Given the description of an element on the screen output the (x, y) to click on. 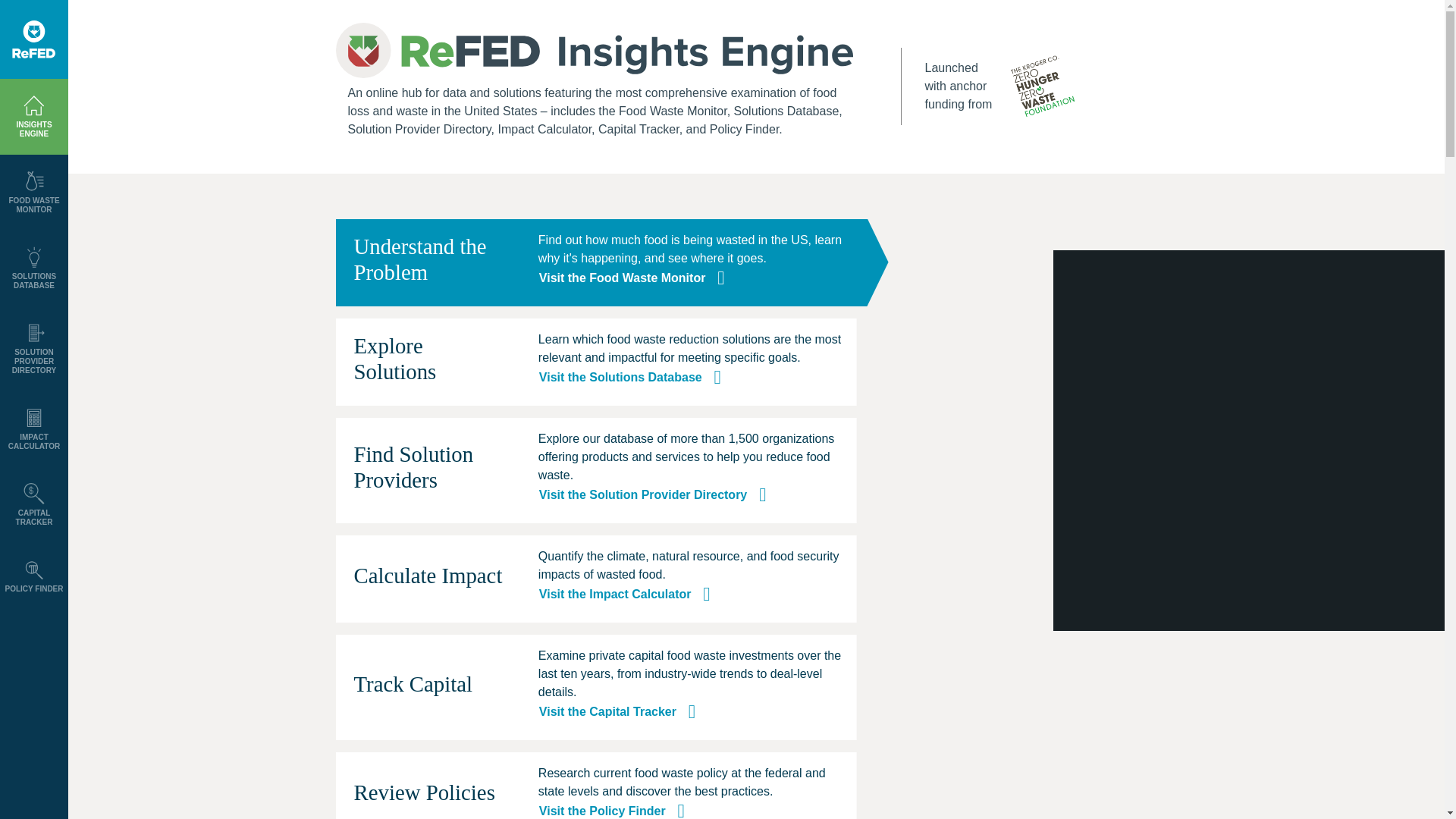
Visit the Solutions Database (630, 377)
IMPACT CALCULATOR (33, 429)
INSIGHTS ENGINE (33, 116)
Visit the Policy Finder (611, 810)
CAPITAL TRACKER (33, 504)
Visit the Capital Tracker (616, 711)
FOOD WASTE MONITOR (33, 192)
SOLUTIONS DATABASE (33, 267)
Visit the Food Waste Monitor (631, 278)
POLICY FINDER (33, 576)
